Given the description of an element on the screen output the (x, y) to click on. 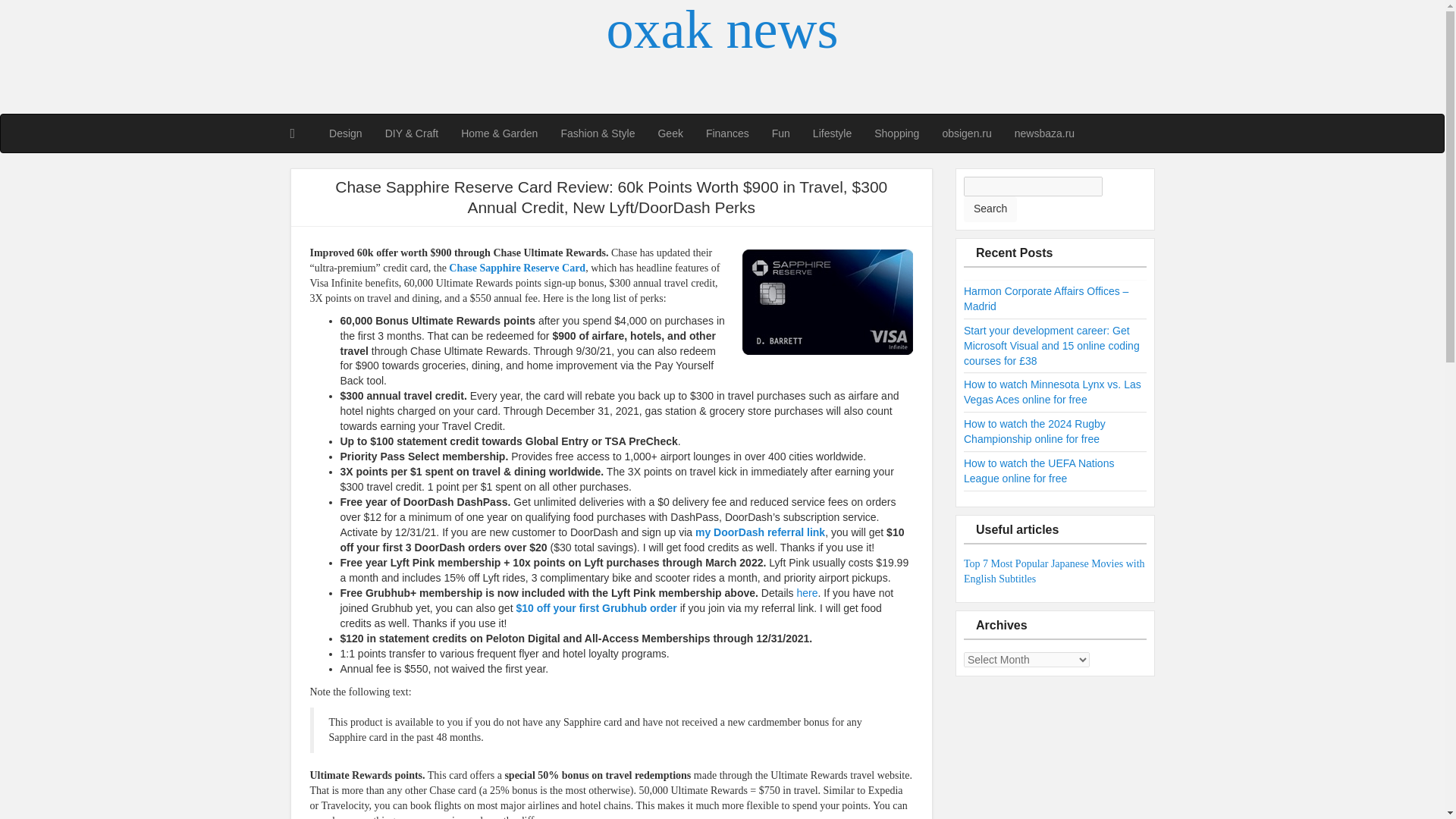
Search (989, 208)
Finances (727, 133)
Chase Sapphire Reserve Card (516, 267)
Lifestyle (832, 133)
Geek (670, 133)
Shopping (896, 133)
Lifestyle (832, 133)
Shopping (896, 133)
How to watch the UEFA Nations League online for free (1038, 470)
